Given the description of an element on the screen output the (x, y) to click on. 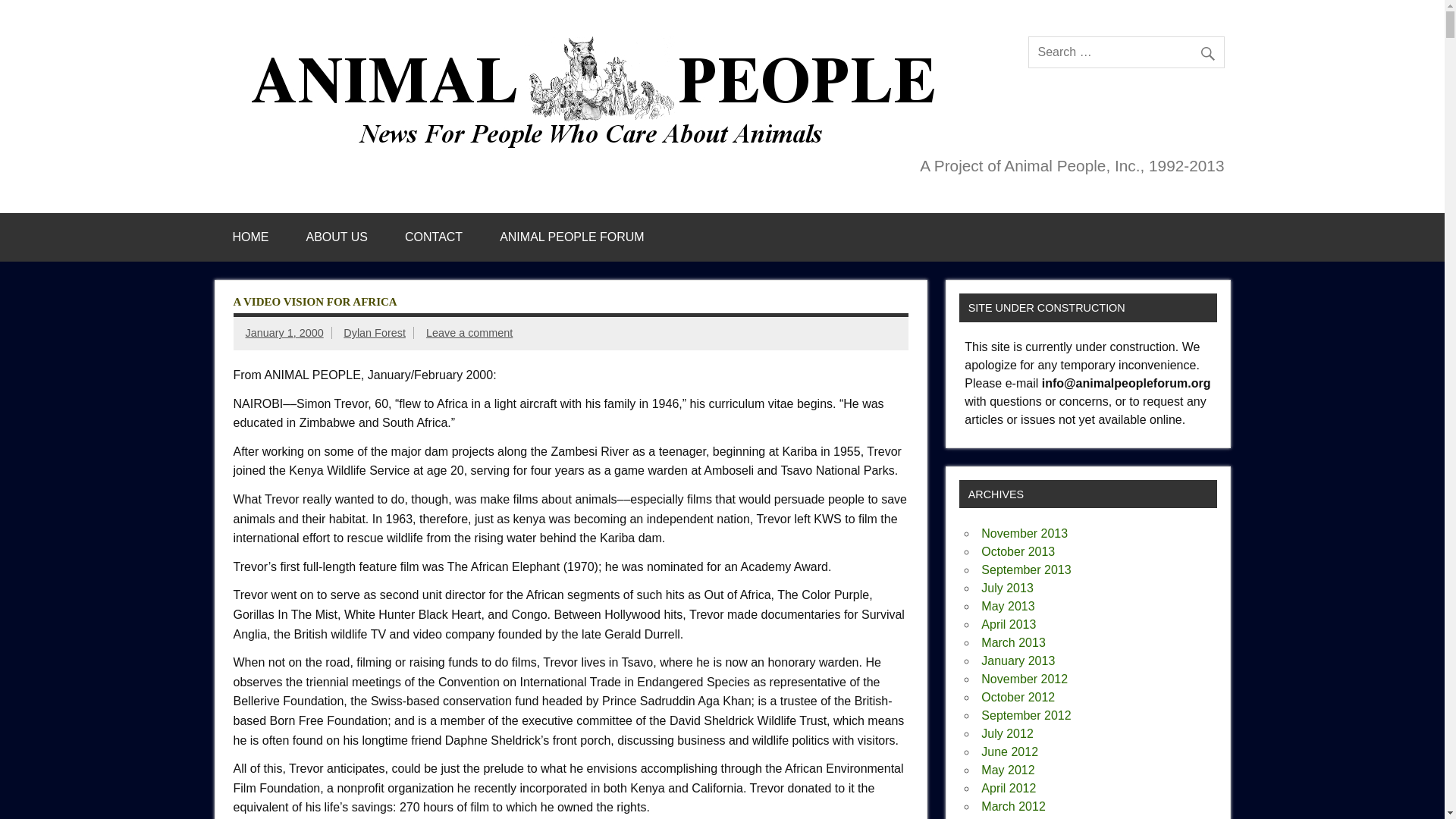
July 2013 (1007, 587)
January 2013 (1017, 660)
8:54 pm (284, 332)
ABOUT US (337, 236)
November 2012 (1024, 678)
May 2013 (1007, 605)
ANIMAL PEOPLE FORUM (571, 236)
View all posts by Dylan Forest (374, 332)
September 2013 (1025, 569)
January 2012 (1017, 818)
